Given the description of an element on the screen output the (x, y) to click on. 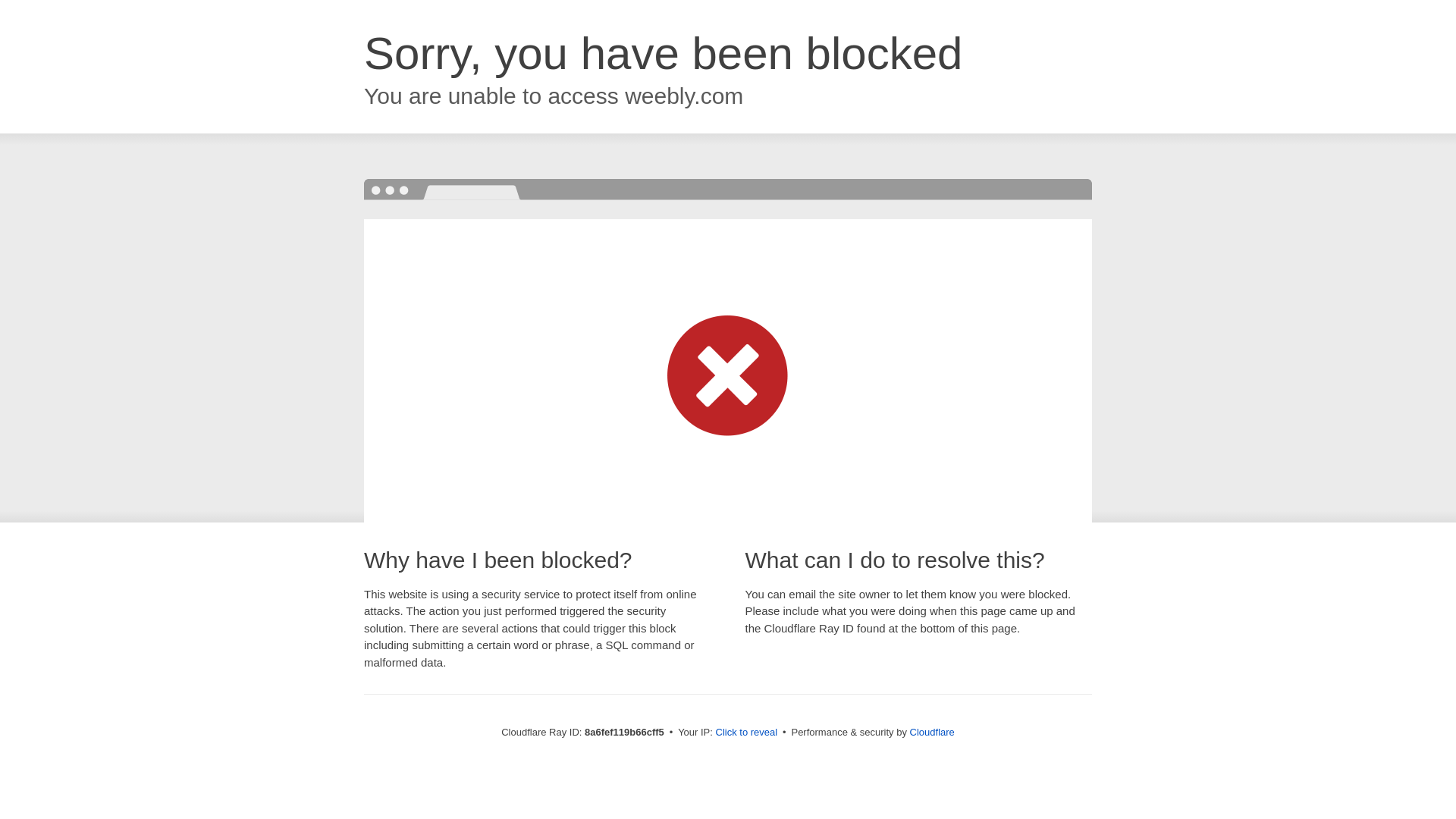
Click to reveal (746, 732)
Cloudflare (932, 731)
